Given the description of an element on the screen output the (x, y) to click on. 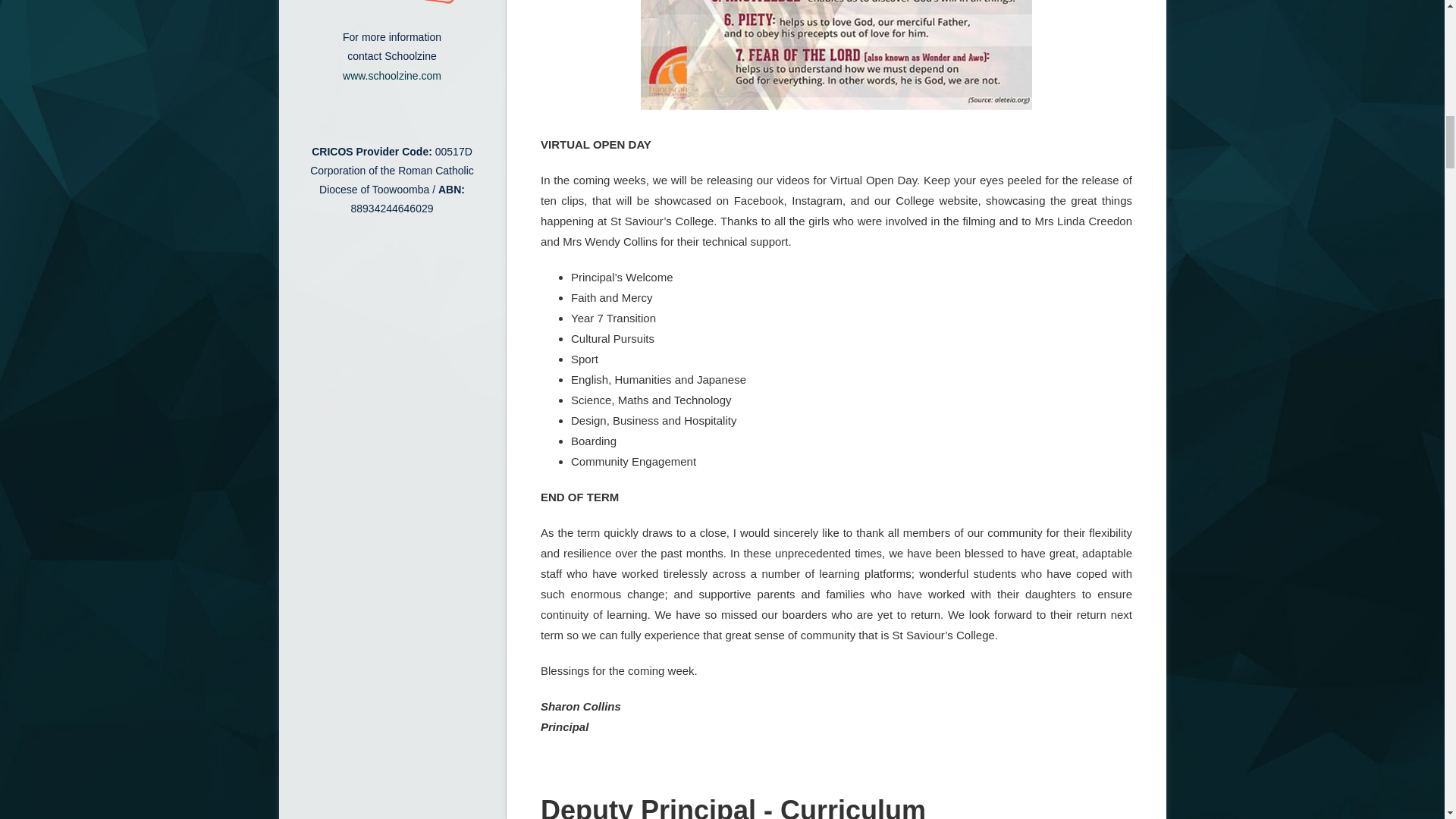
www.schoolzine.com (391, 75)
